Given the description of an element on the screen output the (x, y) to click on. 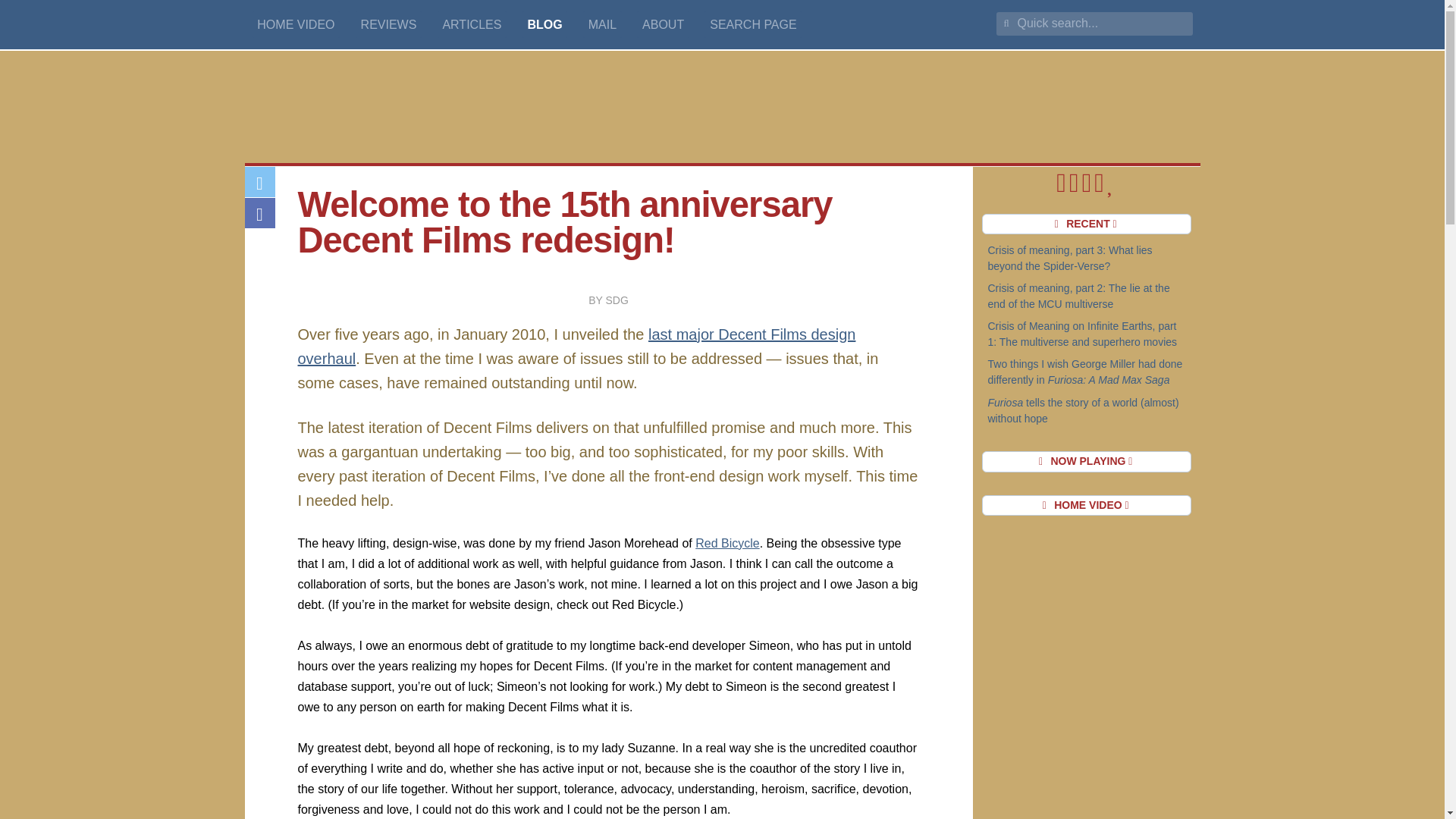
RECENT (1086, 224)
Share on Twitter (259, 182)
last major Decent Films design overhaul (576, 345)
Red Bicycle (726, 543)
NOW PLAYING (1086, 461)
SEARCH PAGE (753, 24)
REVIEWS (388, 24)
BLOG (544, 24)
